Given the description of an element on the screen output the (x, y) to click on. 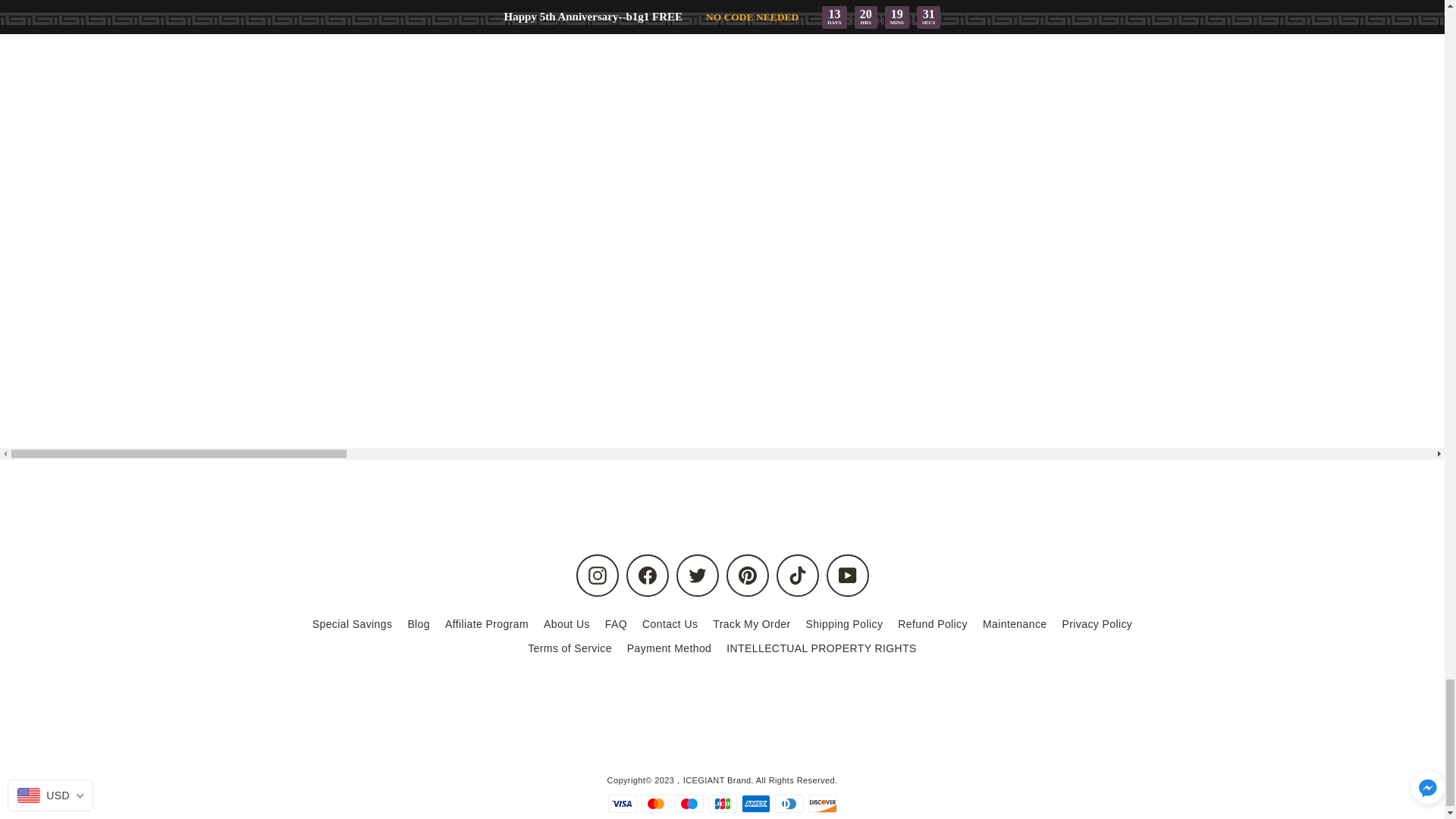
ICEGIANT on Instagram (597, 575)
ICEGIANT on Twitter (698, 575)
ICEGIANT on YouTube (848, 575)
ICEGIANT on TikTok (797, 575)
ICEGIANT on Facebook (647, 575)
ICEGIANT on Pinterest (747, 575)
